Given the description of an element on the screen output the (x, y) to click on. 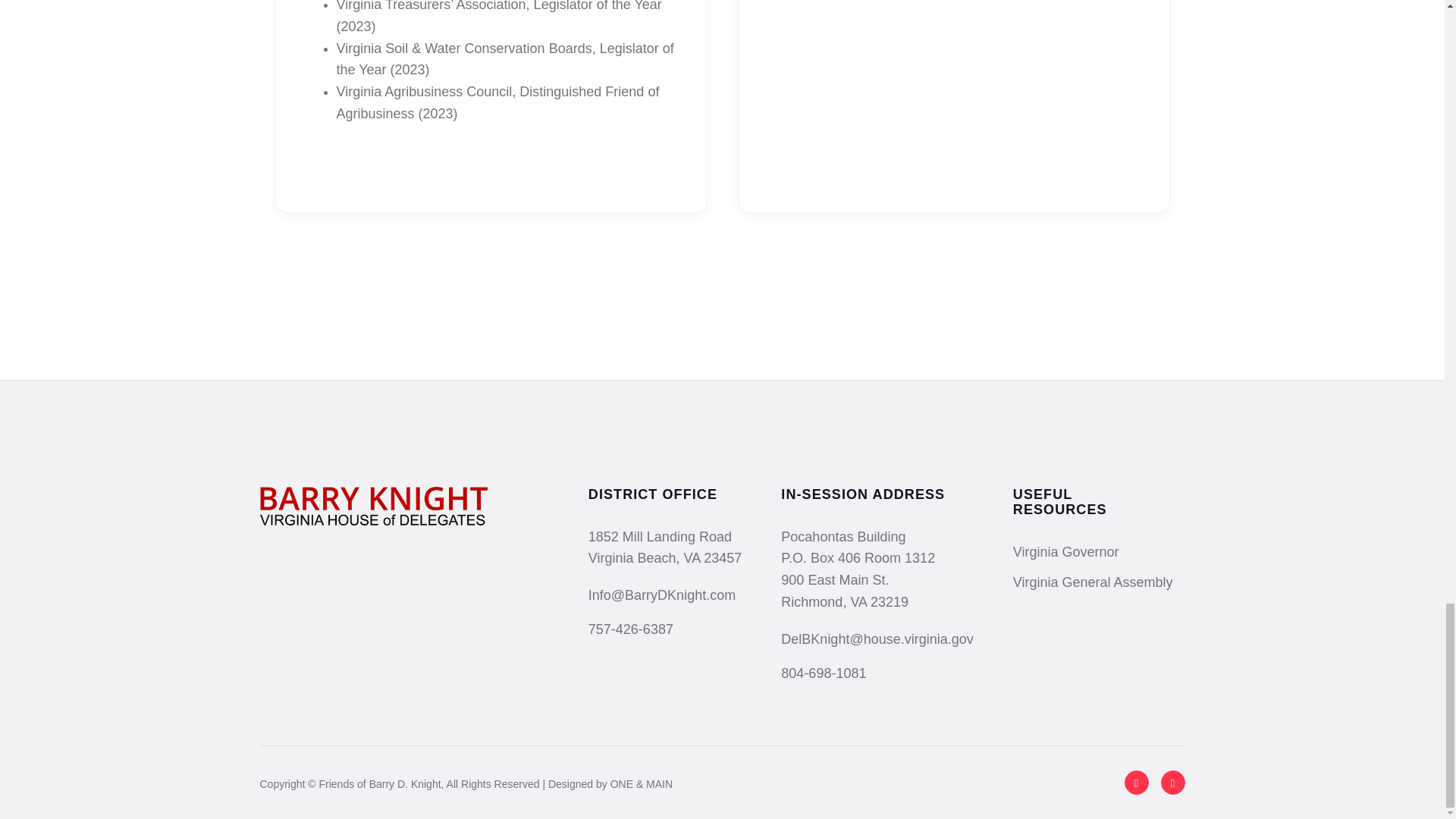
Virginia General Assembly (1093, 581)
757-426-6387 (664, 629)
Virginia Governor (1066, 551)
804-698-1081 (876, 673)
